Given the description of an element on the screen output the (x, y) to click on. 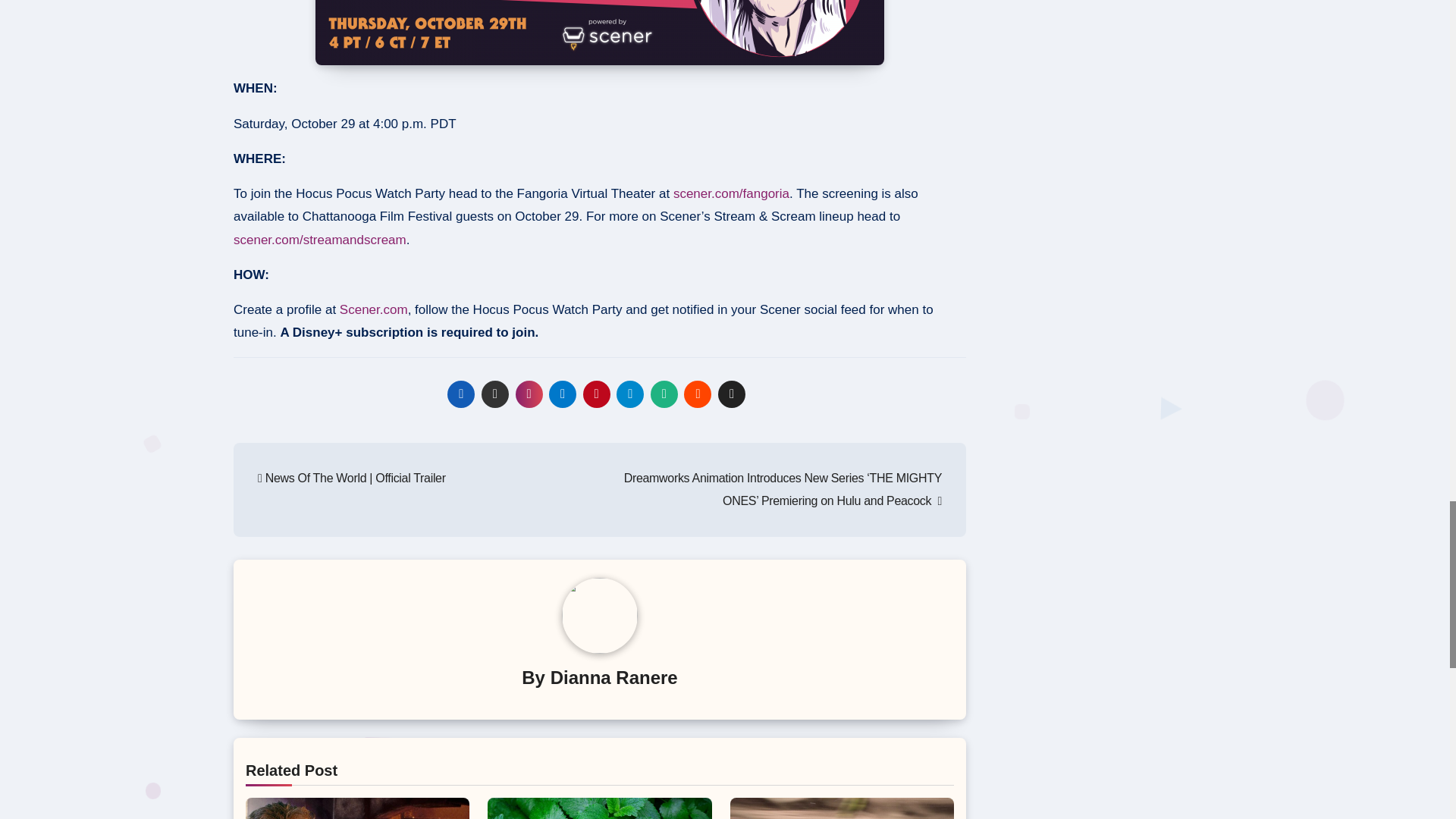
Scener.com (373, 309)
